Given the description of an element on the screen output the (x, y) to click on. 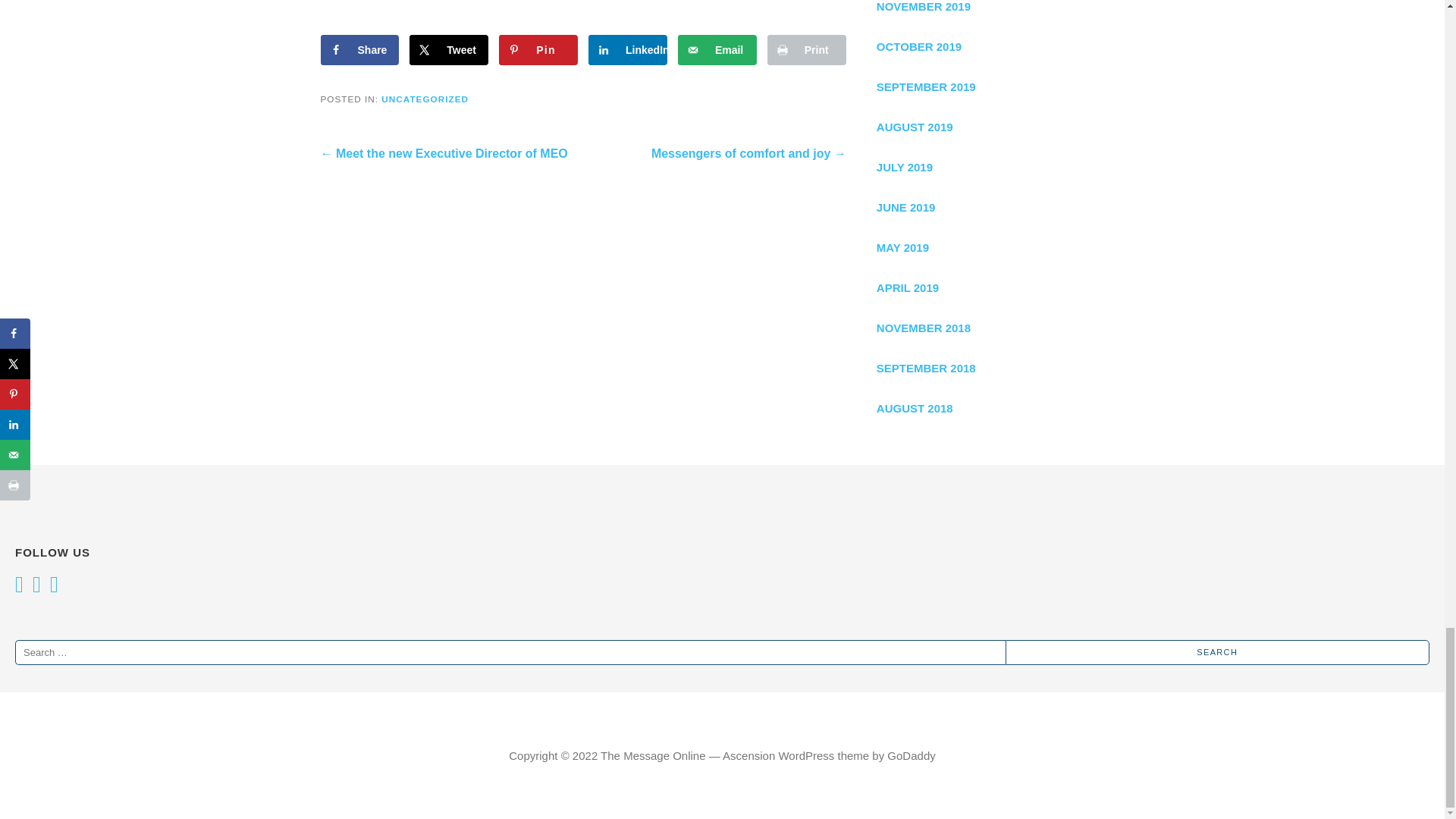
Share (359, 50)
LinkedIn (627, 50)
Share on X (448, 50)
Share on Facebook (359, 50)
Search (1217, 652)
Print (806, 50)
Print this webpage (806, 50)
Search (1217, 652)
Send over email (717, 50)
Pin (538, 50)
